Given the description of an element on the screen output the (x, y) to click on. 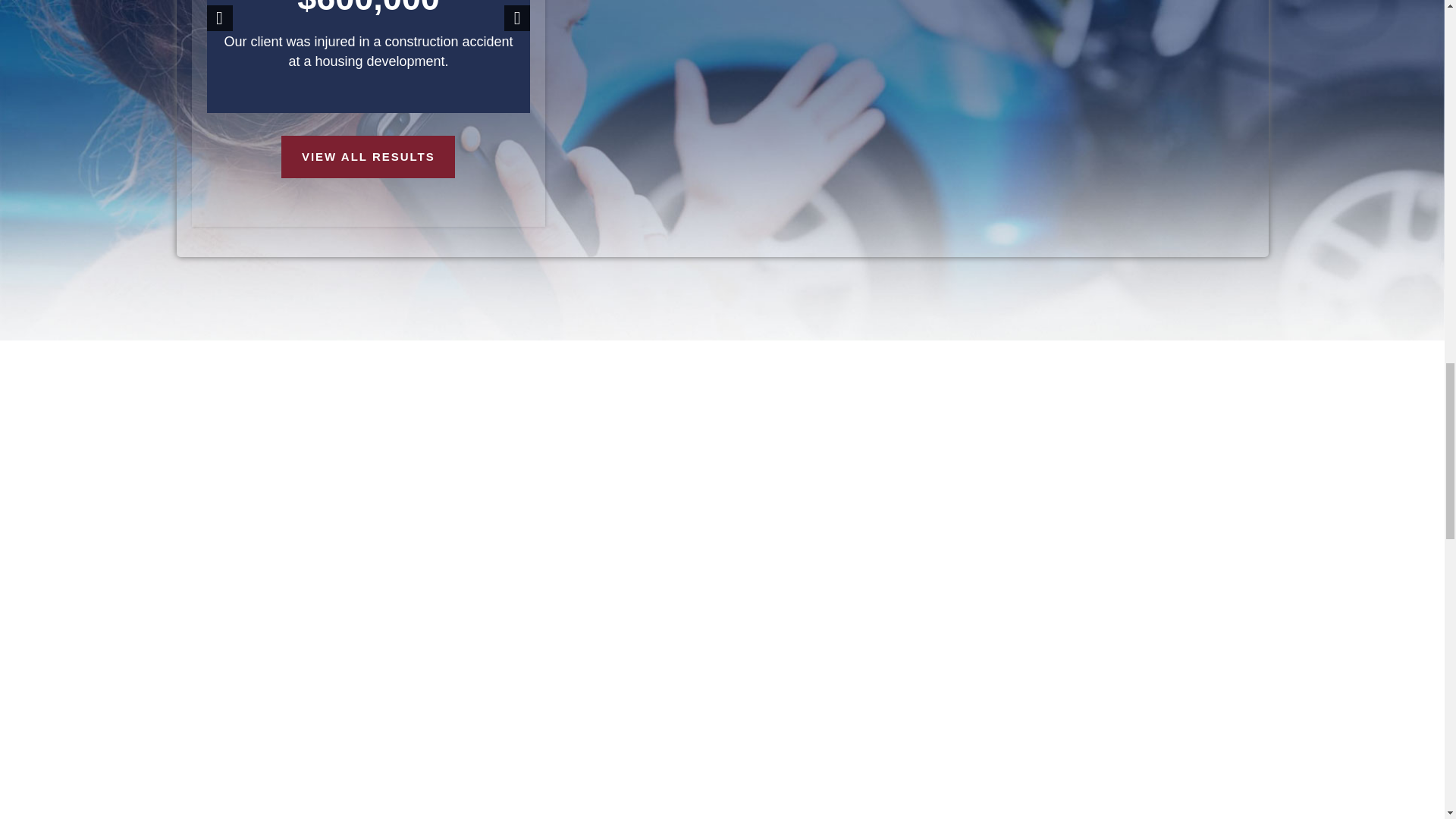
VIEW ALL RESULTS (367, 156)
